Given the description of an element on the screen output the (x, y) to click on. 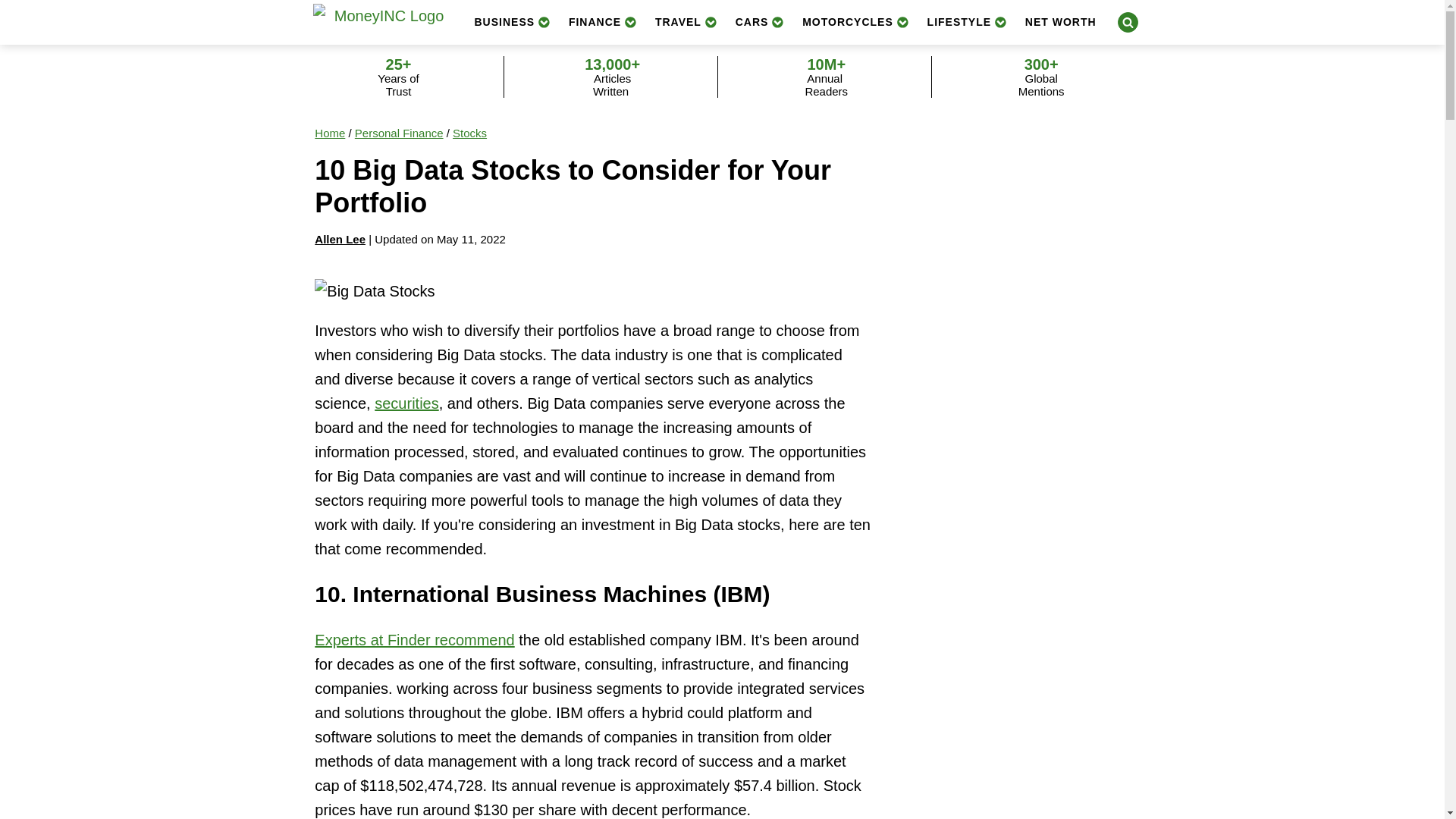
BUSINESS (512, 22)
FINANCE (602, 22)
TRAVEL (686, 22)
CARS (759, 22)
